Given the description of an element on the screen output the (x, y) to click on. 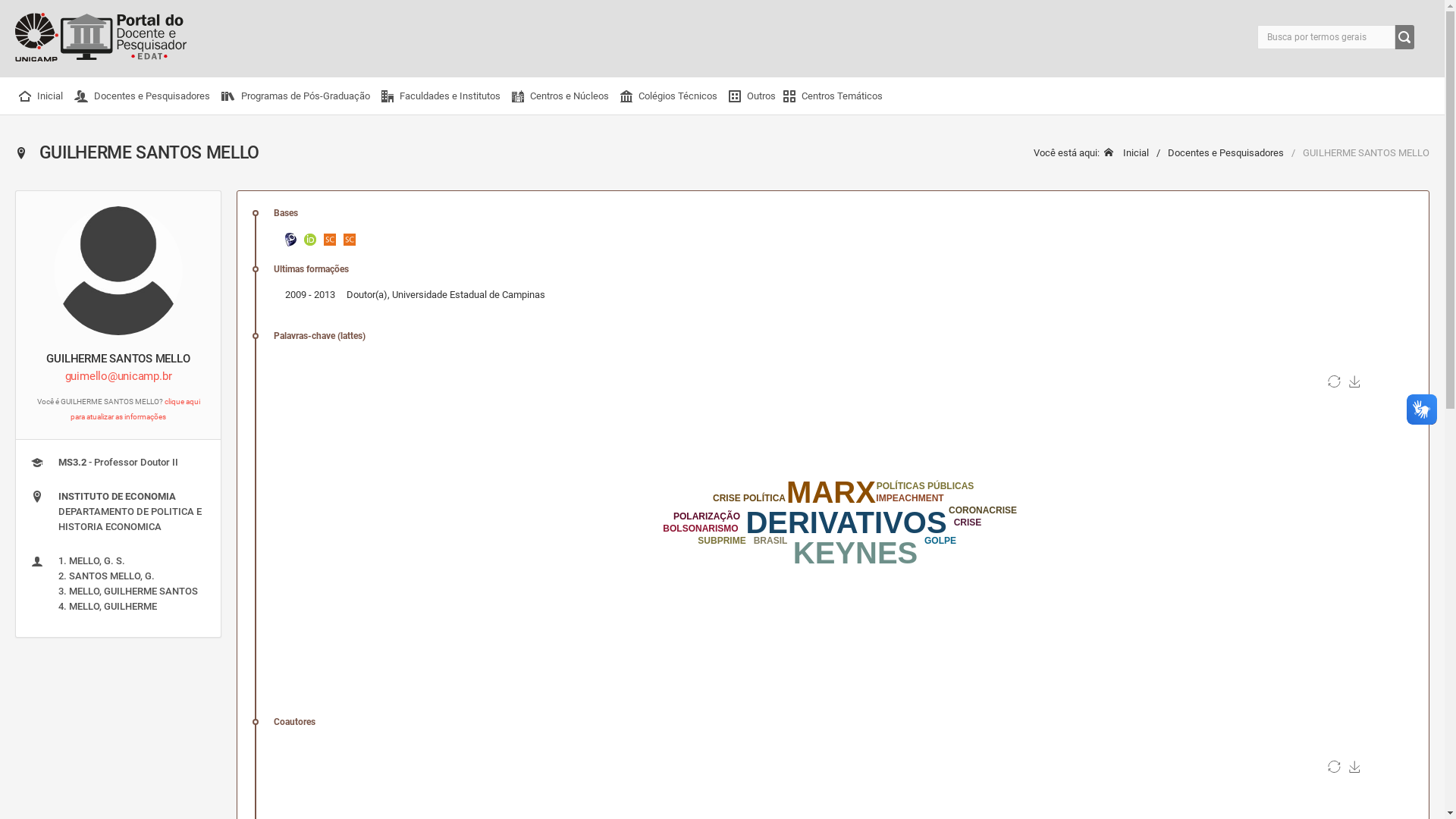
MS3.2
 - Professor Doutor II Element type: text (117, 462)
guimello@unicamp.br Element type: text (118, 375)
Docentes e Pesquisadores Element type: text (143, 96)
Faculdades e Institutos Element type: text (442, 96)
Outros Element type: text (751, 96)
Inicial Element type: text (1126, 153)
Docentes e Pesquisadores Element type: text (1215, 153)
Inicial Element type: text (42, 96)
